Given the description of an element on the screen output the (x, y) to click on. 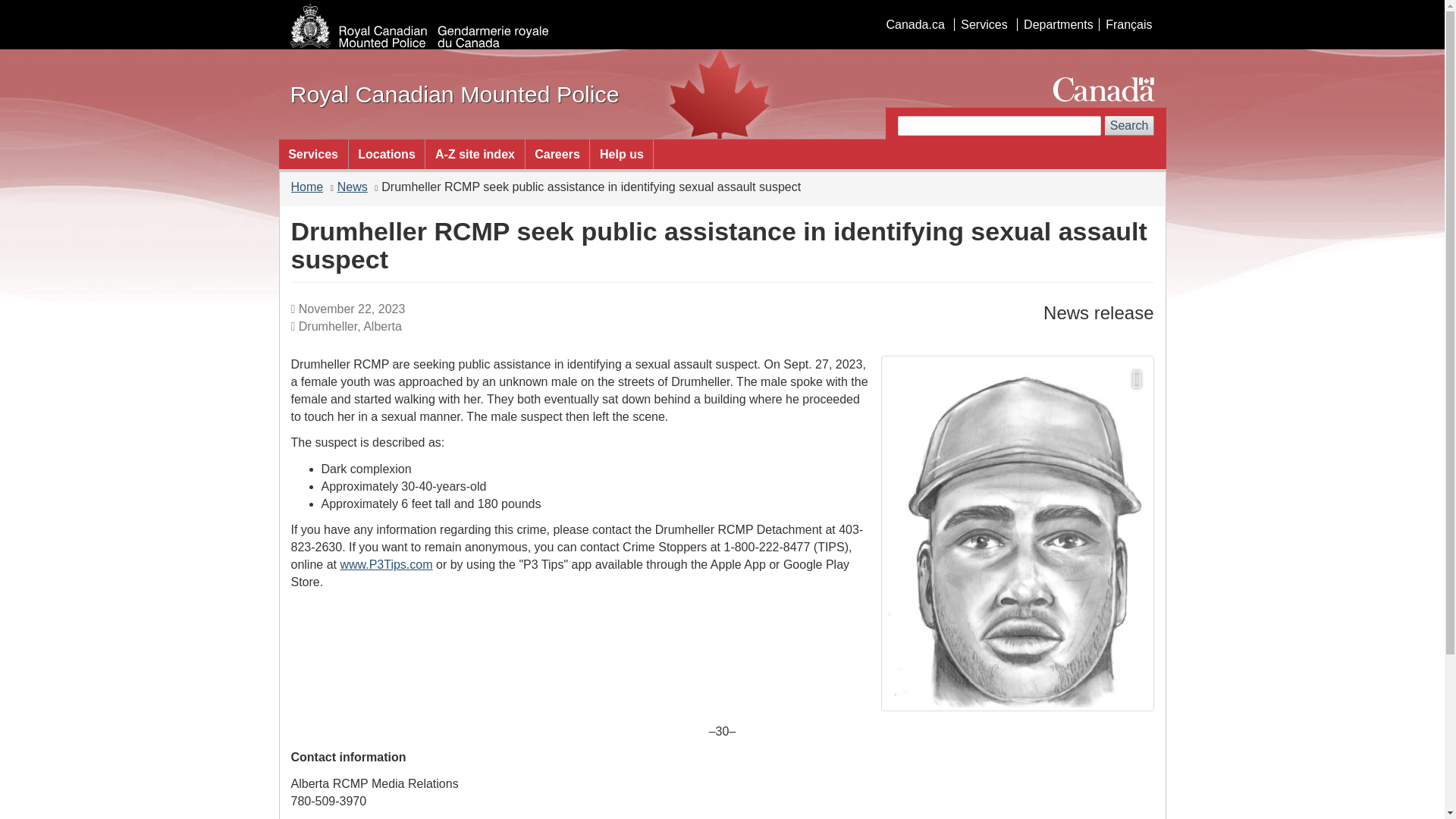
Search (1129, 125)
www.P3Tips.com (385, 563)
Skip to main content (725, 11)
Canada.ca (914, 24)
Royal Canadian Mounted Police (453, 94)
Departments (1057, 24)
Help us (620, 153)
Home (307, 186)
Home (453, 94)
Locations (387, 153)
